Given the description of an element on the screen output the (x, y) to click on. 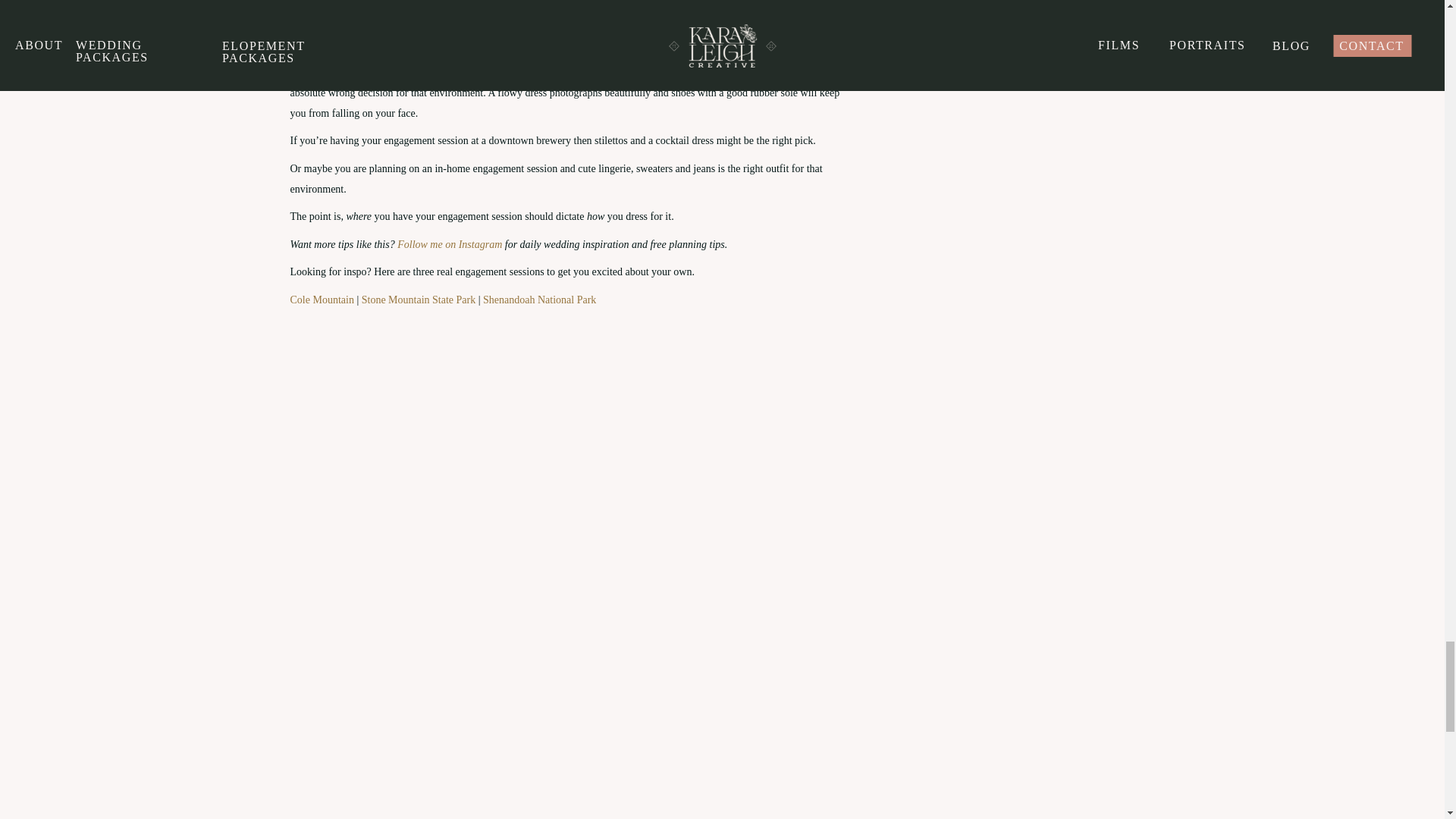
Follow me on Instagram (451, 244)
Stone Mountain State Park (418, 299)
Cole Mountain (322, 299)
